Given the description of an element on the screen output the (x, y) to click on. 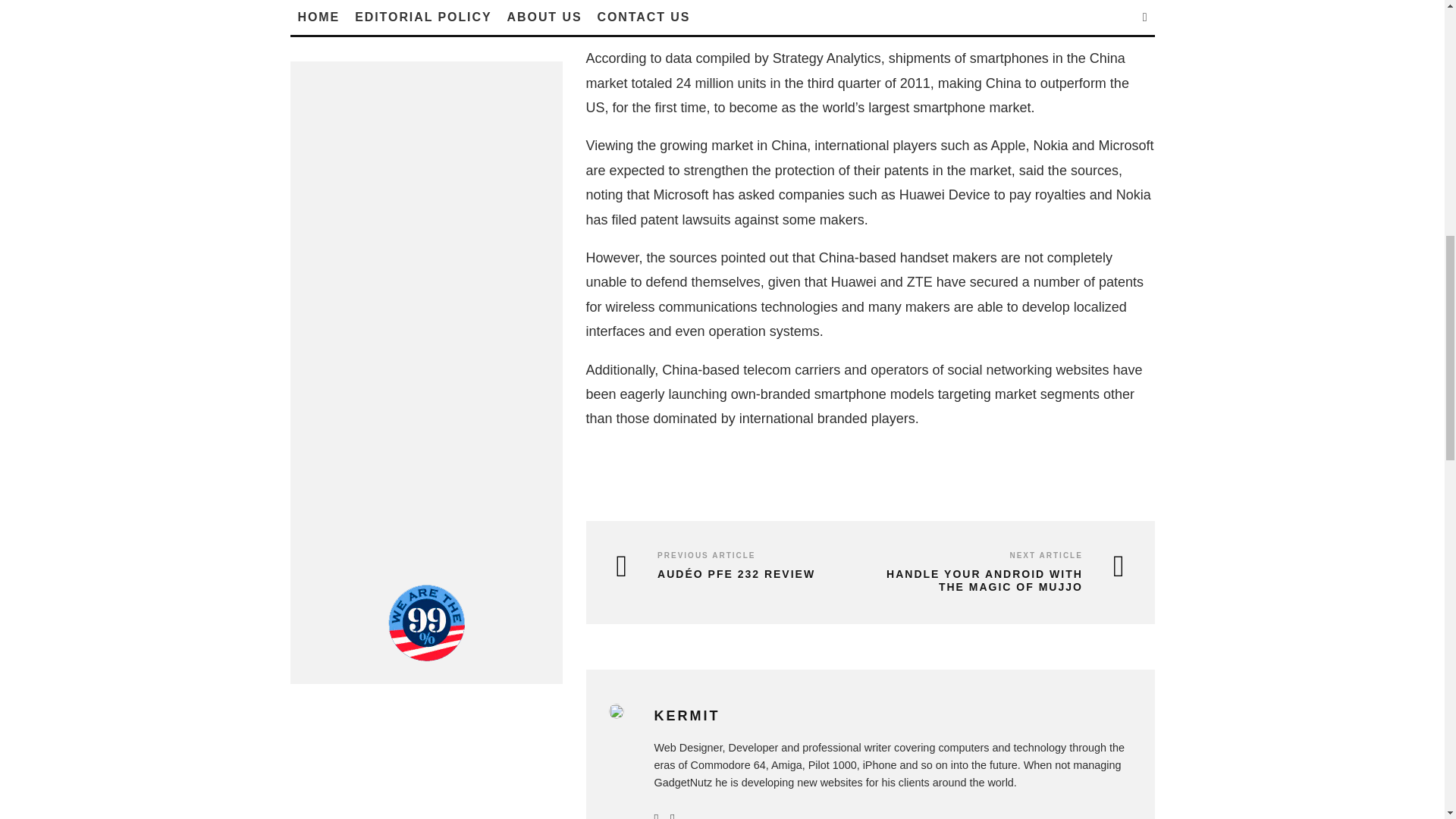
KERMIT (686, 715)
NEXT ARTICLE (1045, 555)
PREVIOUS ARTICLE (706, 555)
HANDLE YOUR ANDROID WITH THE MAGIC OF MUJJO (1000, 580)
